Given the description of an element on the screen output the (x, y) to click on. 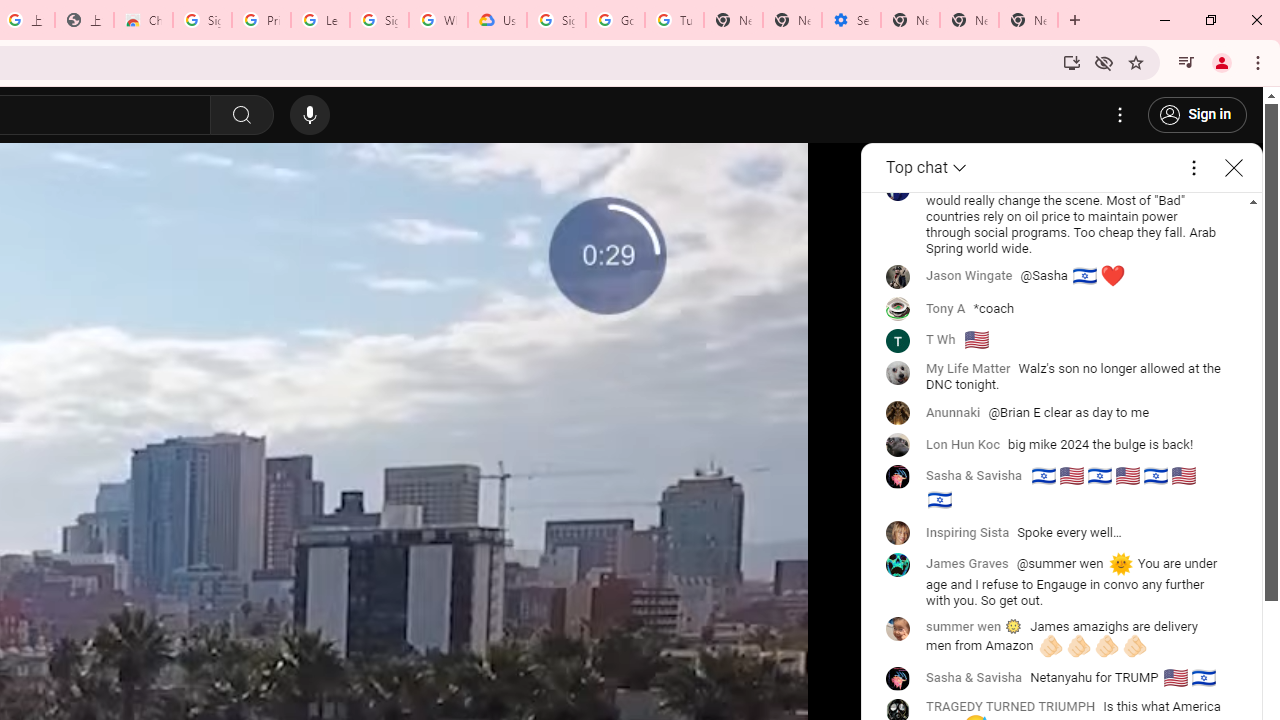
Sign in - Google Accounts (556, 20)
More options (1193, 167)
